Given the description of an element on the screen output the (x, y) to click on. 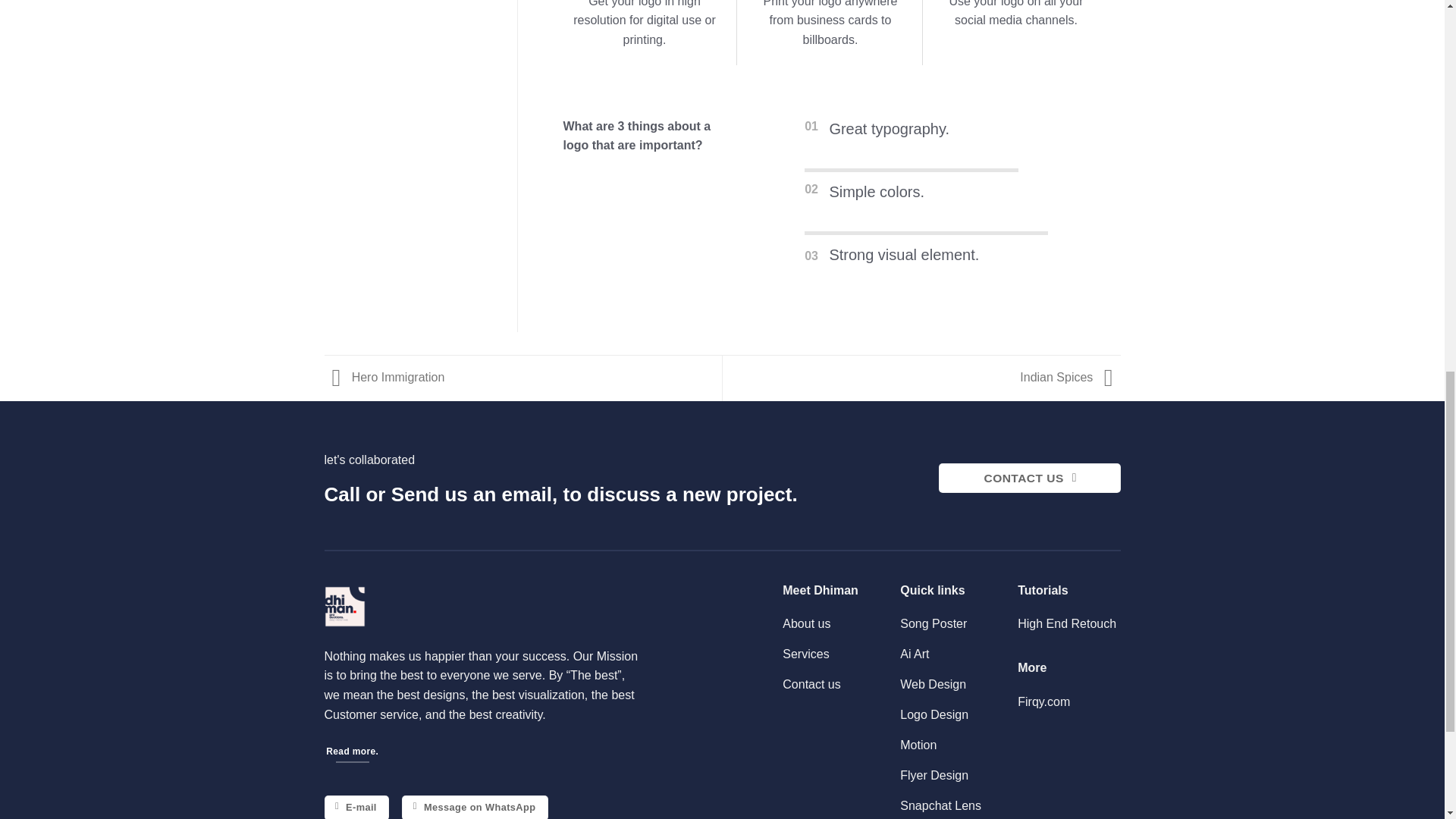
E-mail (357, 807)
Message on WhatsApp (474, 807)
Indian Spices (1069, 377)
CONTACT US (1030, 478)
Read more. (352, 751)
Hero Immigration (384, 377)
Hero Immigration (384, 377)
